Given the description of an element on the screen output the (x, y) to click on. 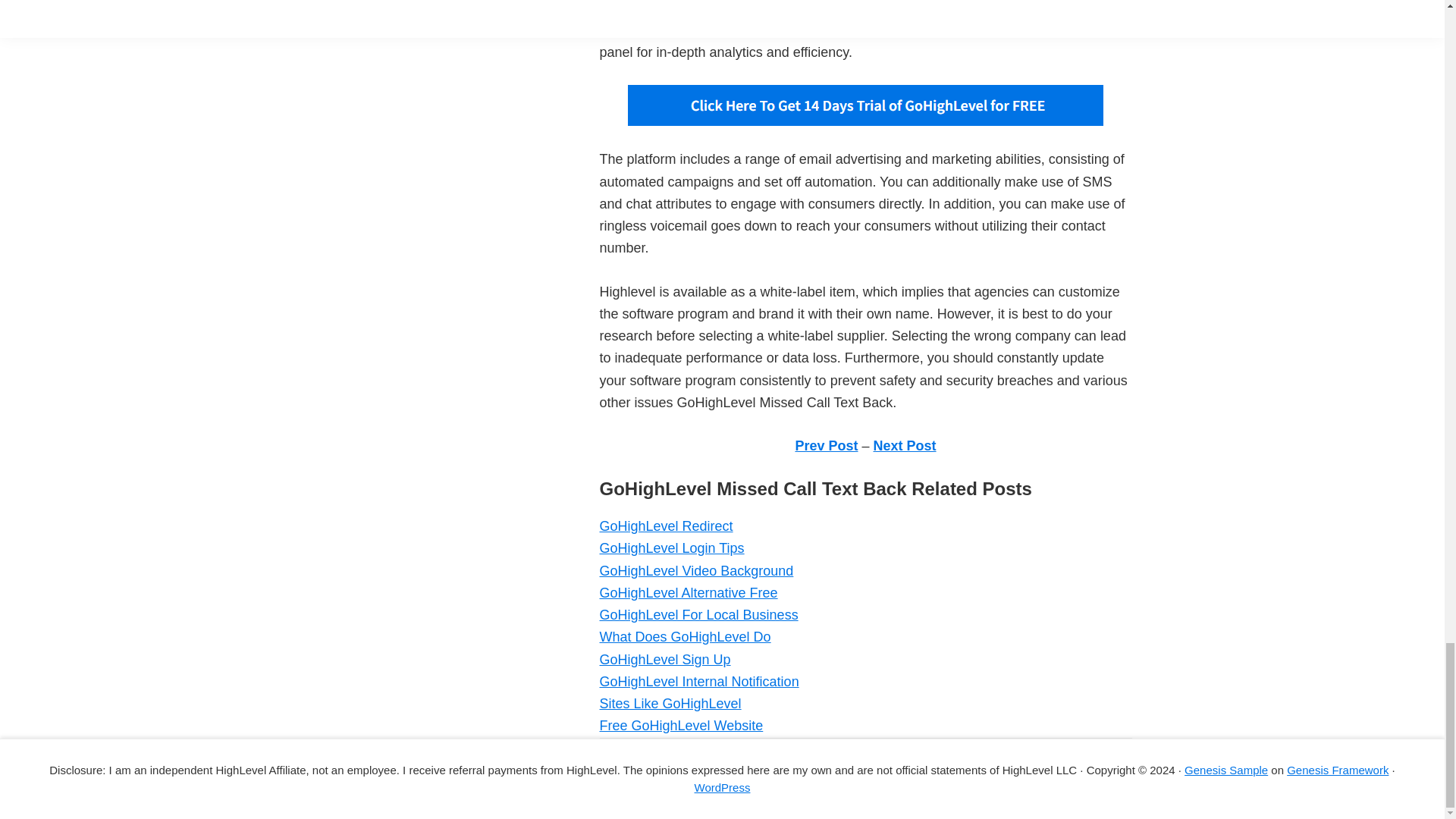
Sites Like GoHighLevel (669, 703)
GoHighLevel Login Tips (671, 548)
GoHighLevel Alternative Free (687, 592)
GoHighLevel Alternative Free (687, 592)
GoHighLevel For Local Business (697, 614)
GoHighLevel Video Background (695, 570)
GoHighLevel Redirect (665, 525)
Free GoHighLevel Website (680, 725)
What Does GoHighLevel Do (684, 636)
GoHighLevel Redirect (665, 525)
